Given the description of an element on the screen output the (x, y) to click on. 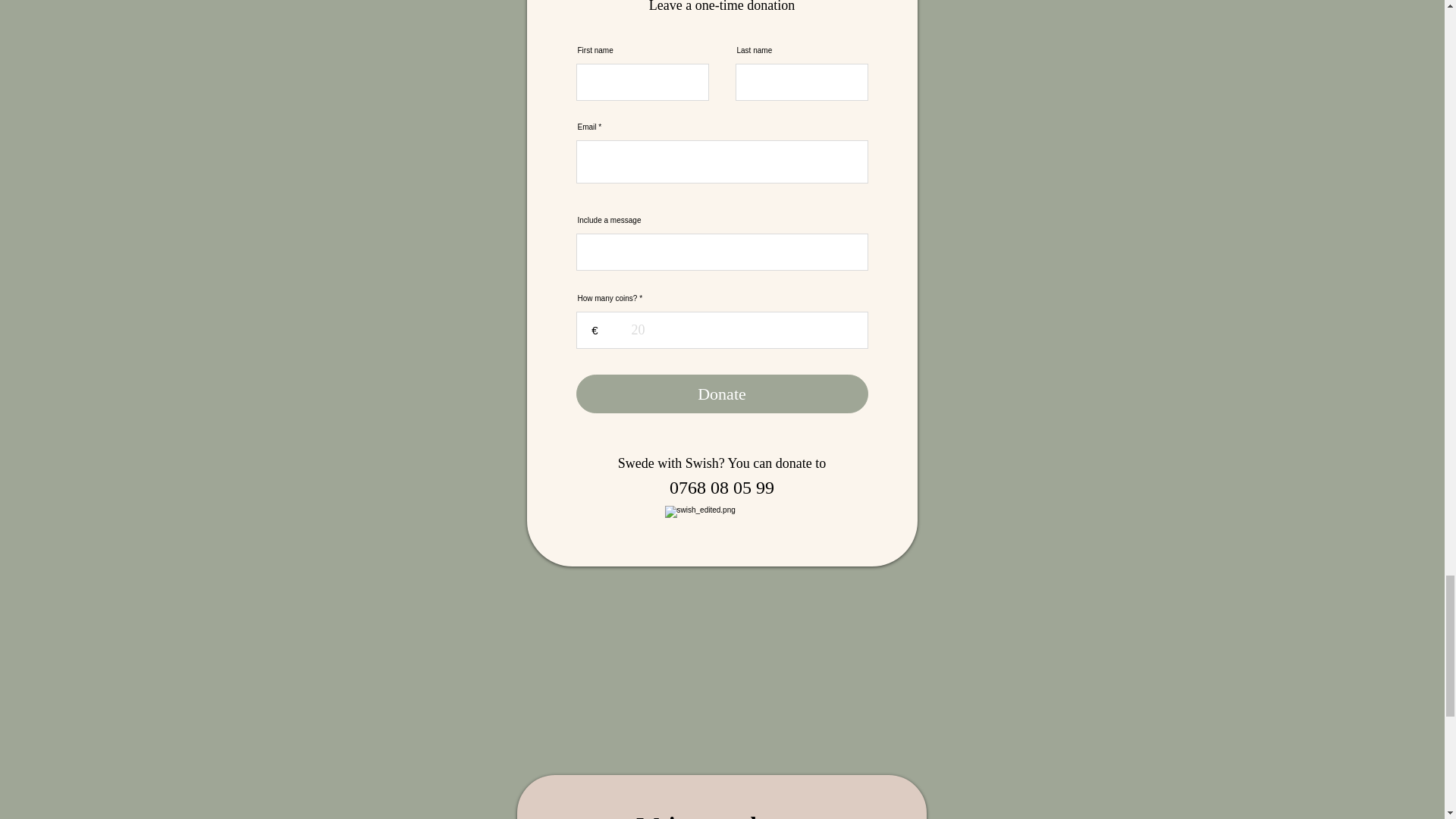
20 (721, 330)
Donate (721, 393)
